Given the description of an element on the screen output the (x, y) to click on. 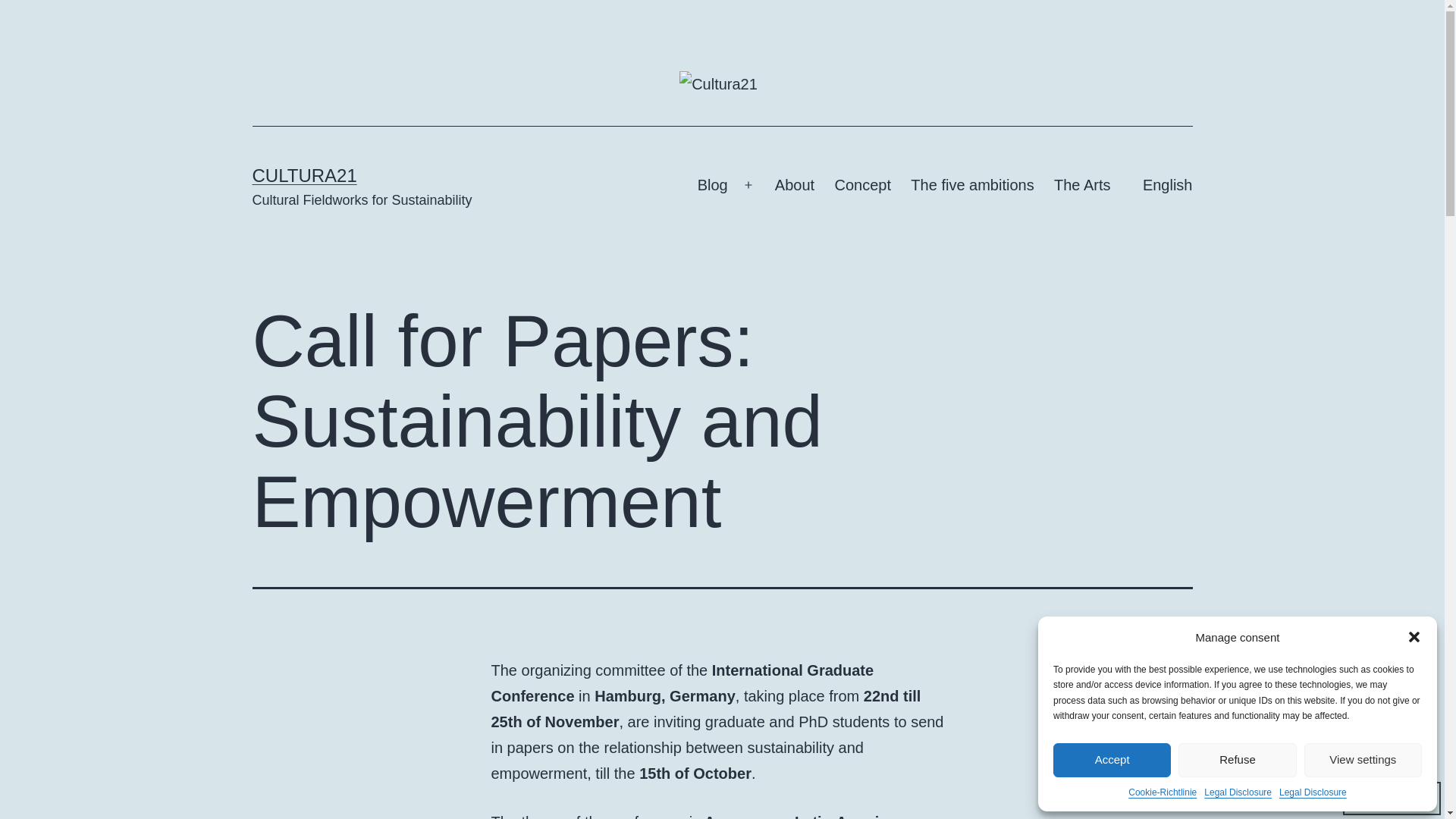
Accept (1111, 759)
Legal Disclosure (1312, 792)
View settings (1363, 759)
CULTURA21 (303, 175)
Refuse (1236, 759)
English (1161, 184)
The five ambitions (972, 184)
Cookie-Richtlinie (1162, 792)
Legal Disclosure (1237, 792)
Concept (862, 184)
